Given the description of an element on the screen output the (x, y) to click on. 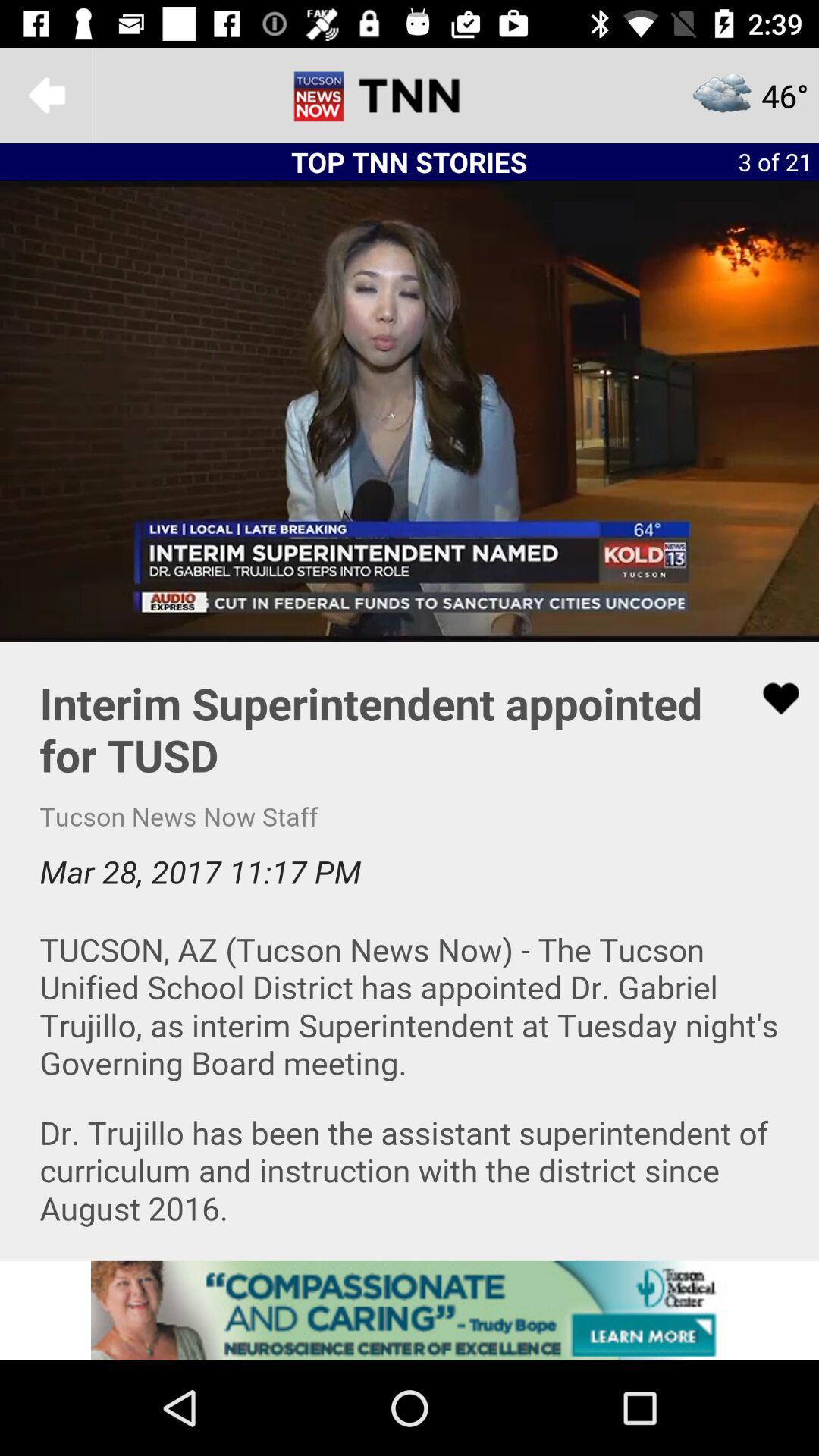
indicate like (771, 698)
